Given the description of an element on the screen output the (x, y) to click on. 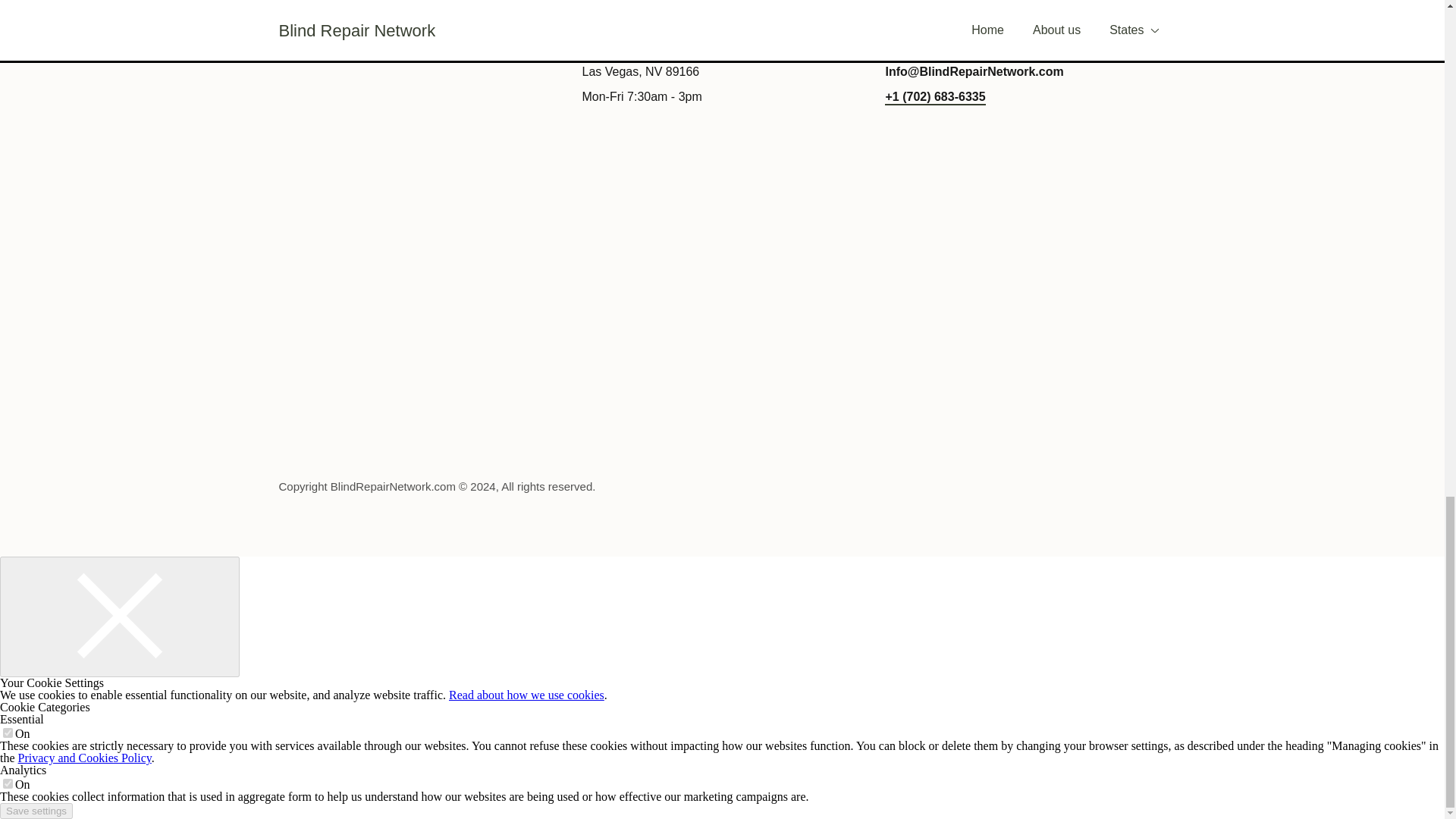
Read about how we use cookies (526, 694)
on (7, 732)
on (7, 783)
Privacy and Cookies Policy (84, 757)
